Given the description of an element on the screen output the (x, y) to click on. 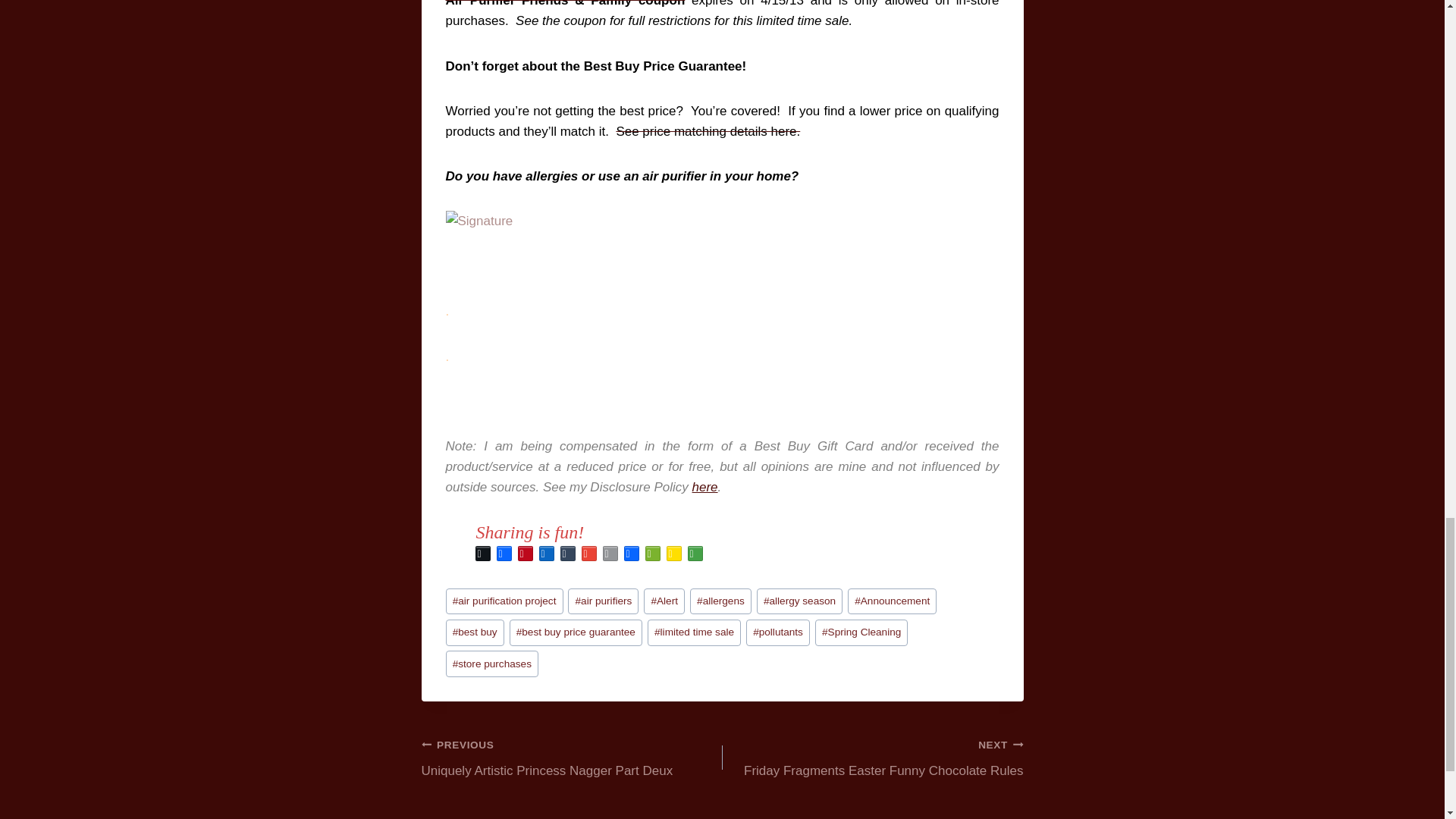
Stacy Uncorked Disclosure Policy (705, 486)
Facebook (503, 553)
Pinterest (524, 553)
Tumblr (567, 553)
LinkedIn (545, 553)
Best Buy Price Match  (707, 131)
WeChat (652, 553)
Best Buy Air Purification Coupon (721, 3)
Email This (609, 553)
Snapchat (673, 553)
